Given the description of an element on the screen output the (x, y) to click on. 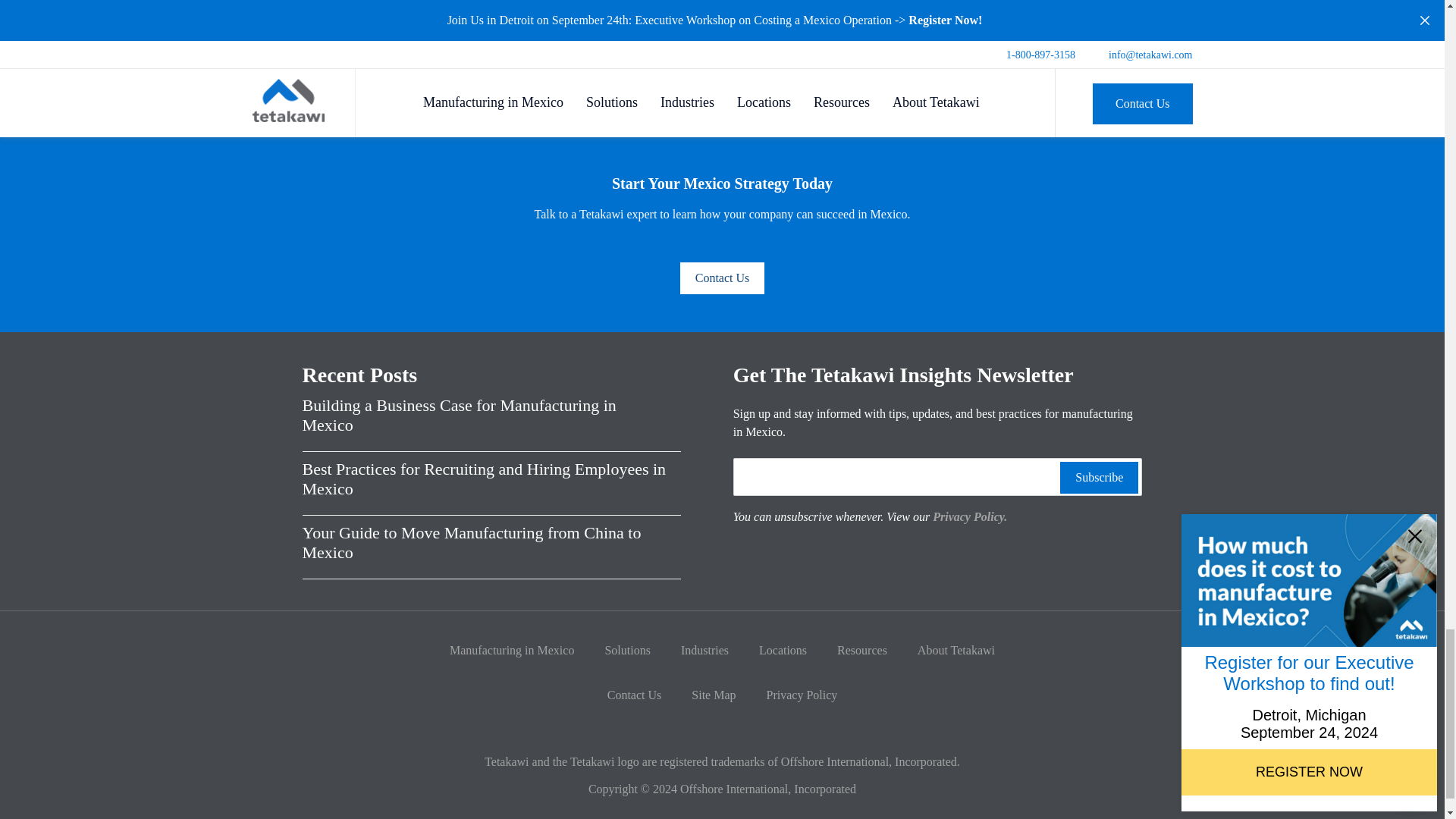
Contact Us (722, 278)
Subscribe (1098, 477)
